Given the description of an element on the screen output the (x, y) to click on. 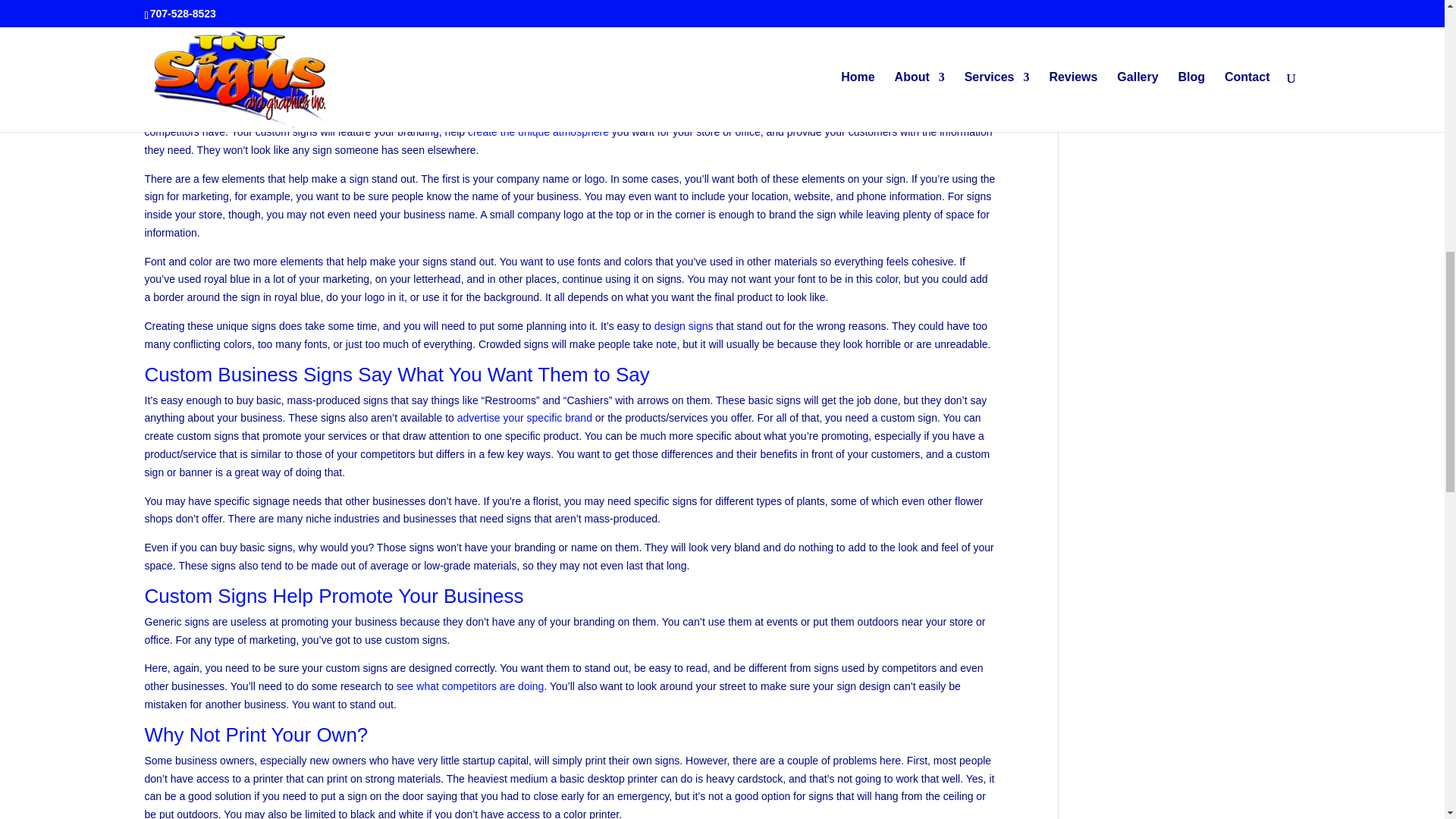
see what competitors are doing (470, 686)
advertise your specific brand (524, 417)
custom business signs (301, 4)
design signs (683, 326)
create the unique atmosphere (537, 132)
